Given the description of an element on the screen output the (x, y) to click on. 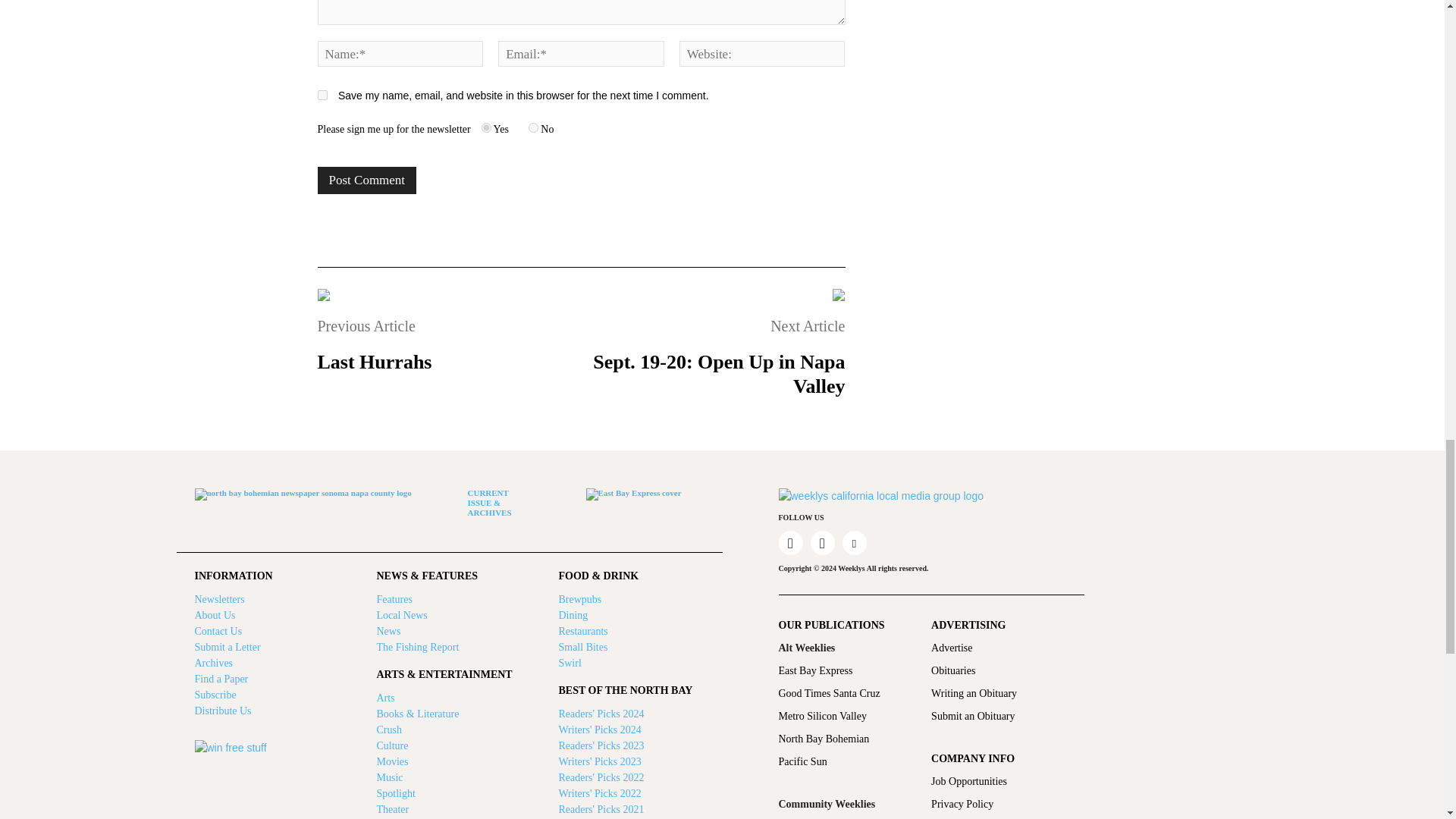
yes (321, 94)
Post Comment (366, 180)
No (533, 127)
Yes (486, 127)
